Given the description of an element on the screen output the (x, y) to click on. 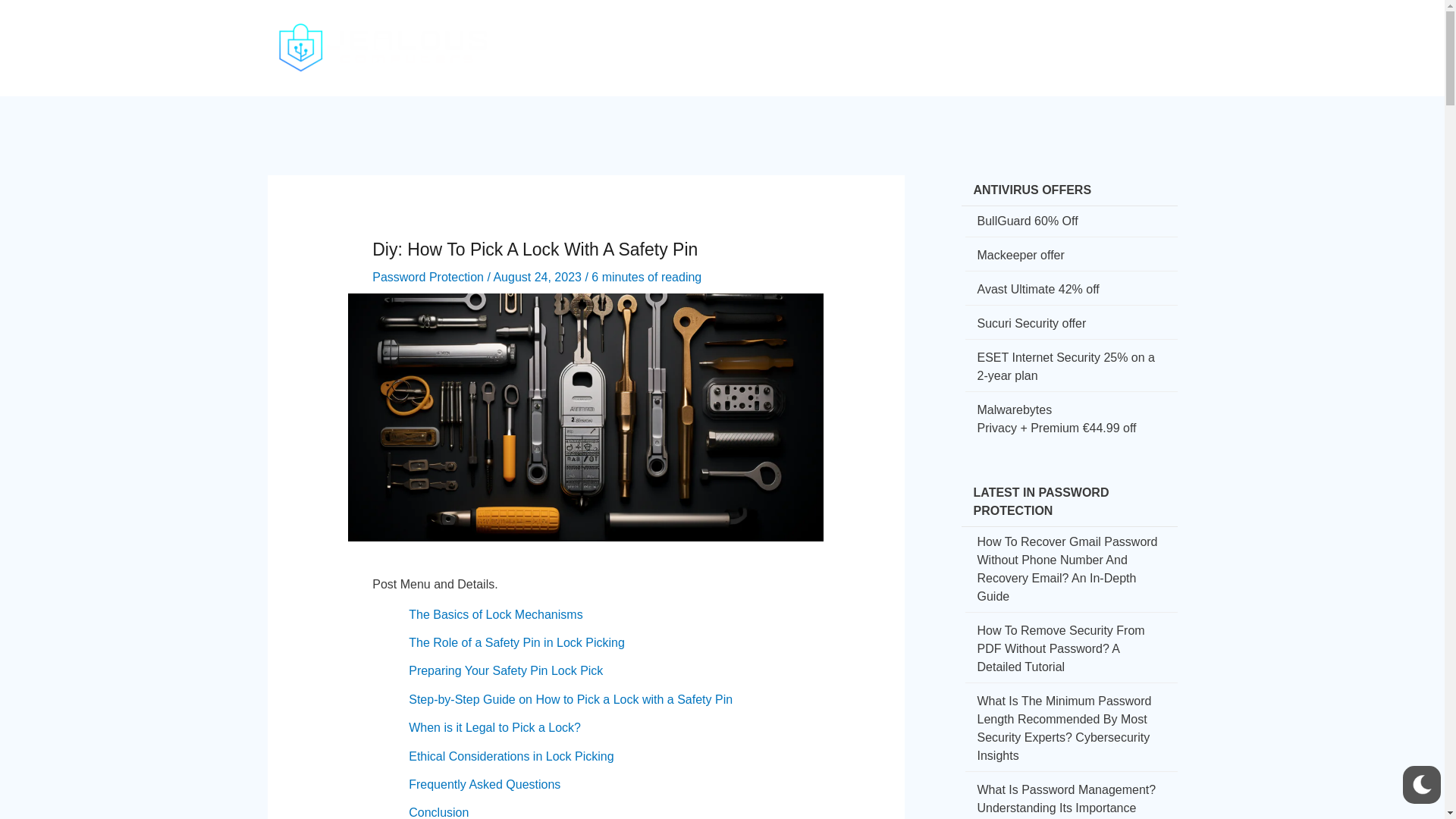
Search (1162, 37)
The Basics of Lock Mechanisms (495, 614)
Finances (929, 35)
10 Best (1064, 35)
Ethical Considerations in Lock Picking (510, 756)
Password Protection (427, 277)
Frequently Asked Questions (484, 784)
Social (863, 35)
Misc (1122, 35)
Preparing Your Safety Pin Lock Pick (505, 670)
How-To (802, 35)
Step-by-Step Guide on How to Pick a Lock with a Safety Pin (570, 698)
The Role of a Safety Pin in Lock Picking (516, 642)
Cyber Security (713, 35)
Gaming (999, 35)
